Given the description of an element on the screen output the (x, y) to click on. 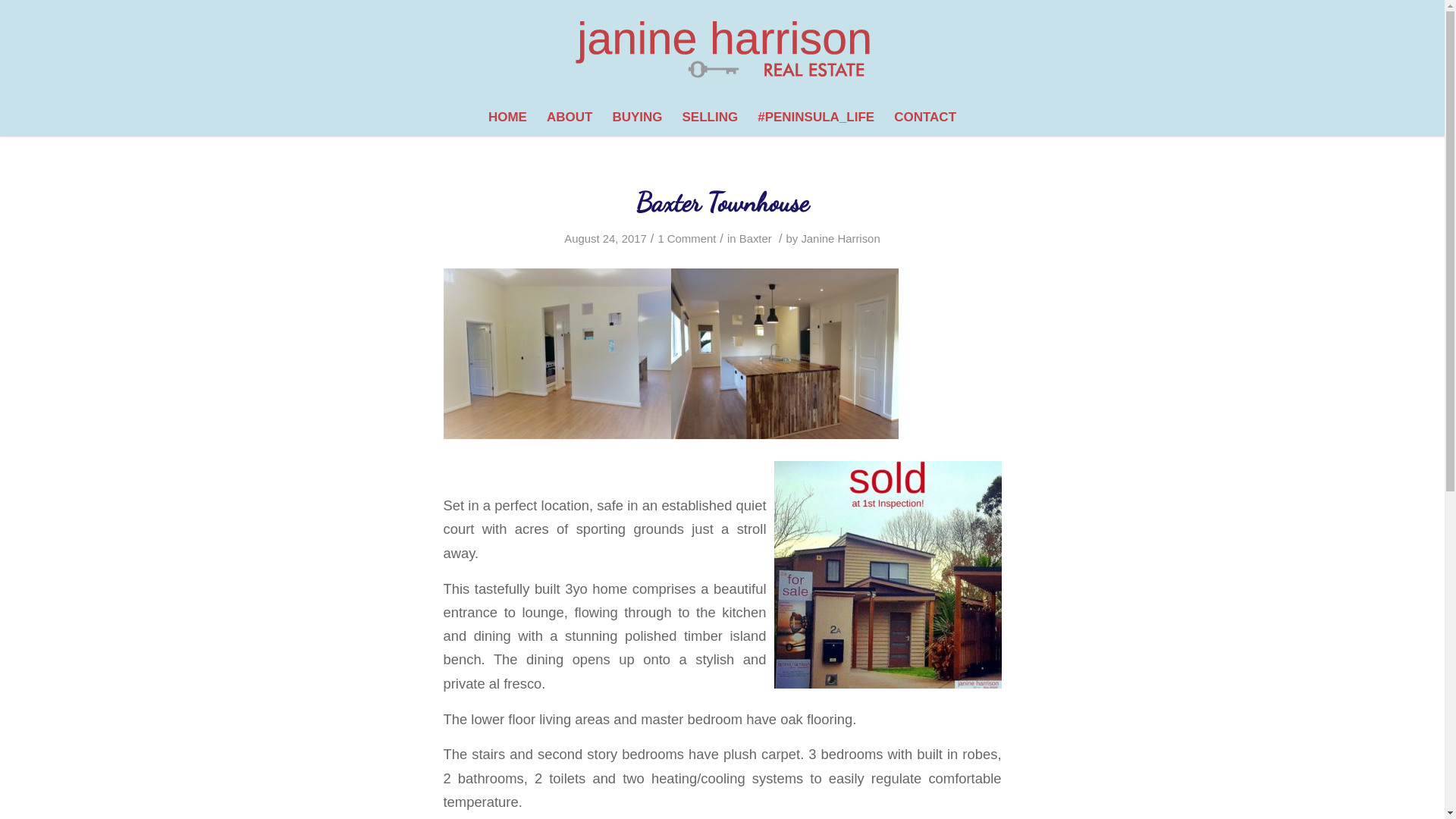
Baxter Element type: text (755, 238)
Janine Harrison Element type: text (839, 238)
#PENINSULA_LIFE Element type: text (815, 117)
Baxter Townhouse Element type: text (721, 202)
HOME Element type: text (507, 117)
SELLING Element type: text (710, 117)
ABOUT Element type: text (569, 117)
CONTACT Element type: text (925, 117)
1 Comment Element type: text (686, 238)
BUYING Element type: text (636, 117)
